Given the description of an element on the screen output the (x, y) to click on. 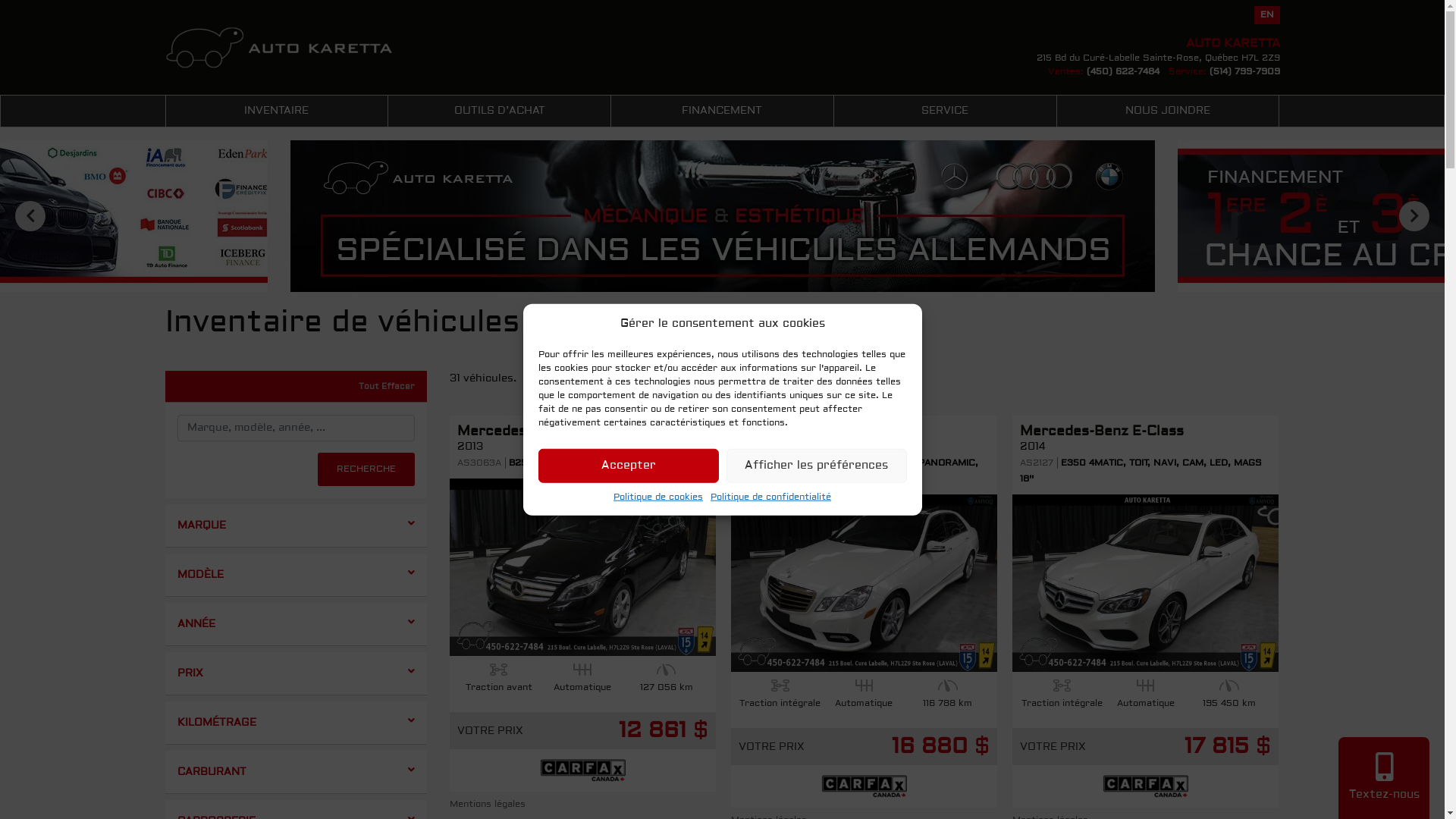
2013 Mercedes-Benz Classe-B Element type: hover (581, 566)
Transmission Element type: hover (1145, 685)
Transmission Element type: hover (582, 669)
2014 Mercedes-Benz E-Class Element type: hover (1145, 582)
Previous Element type: text (30, 215)
(514) 799-7909 Element type: text (1243, 71)
Traction Element type: hover (779, 685)
2011 Mercedes-Benz E-Class Element type: hover (864, 582)
RECHERCHE Element type: text (365, 469)
(450) 622-7484 Element type: text (1121, 71)
Traction Element type: hover (498, 669)
Next Element type: text (1414, 215)
FINANCEMENT Element type: text (722, 110)
NOUS JOINDRE Element type: text (1168, 110)
Tout Effacer Element type: text (385, 386)
SERVICE Element type: text (945, 110)
Transmission Element type: hover (864, 685)
Accepter Element type: text (628, 465)
EN Element type: text (1267, 15)
Politique de cookies Element type: text (657, 496)
INVENTAIRE Element type: text (276, 110)
AUTO KARETTA Element type: hover (278, 39)
Textez-nous Element type: text (1383, 781)
Traction Element type: hover (1061, 685)
